Given the description of an element on the screen output the (x, y) to click on. 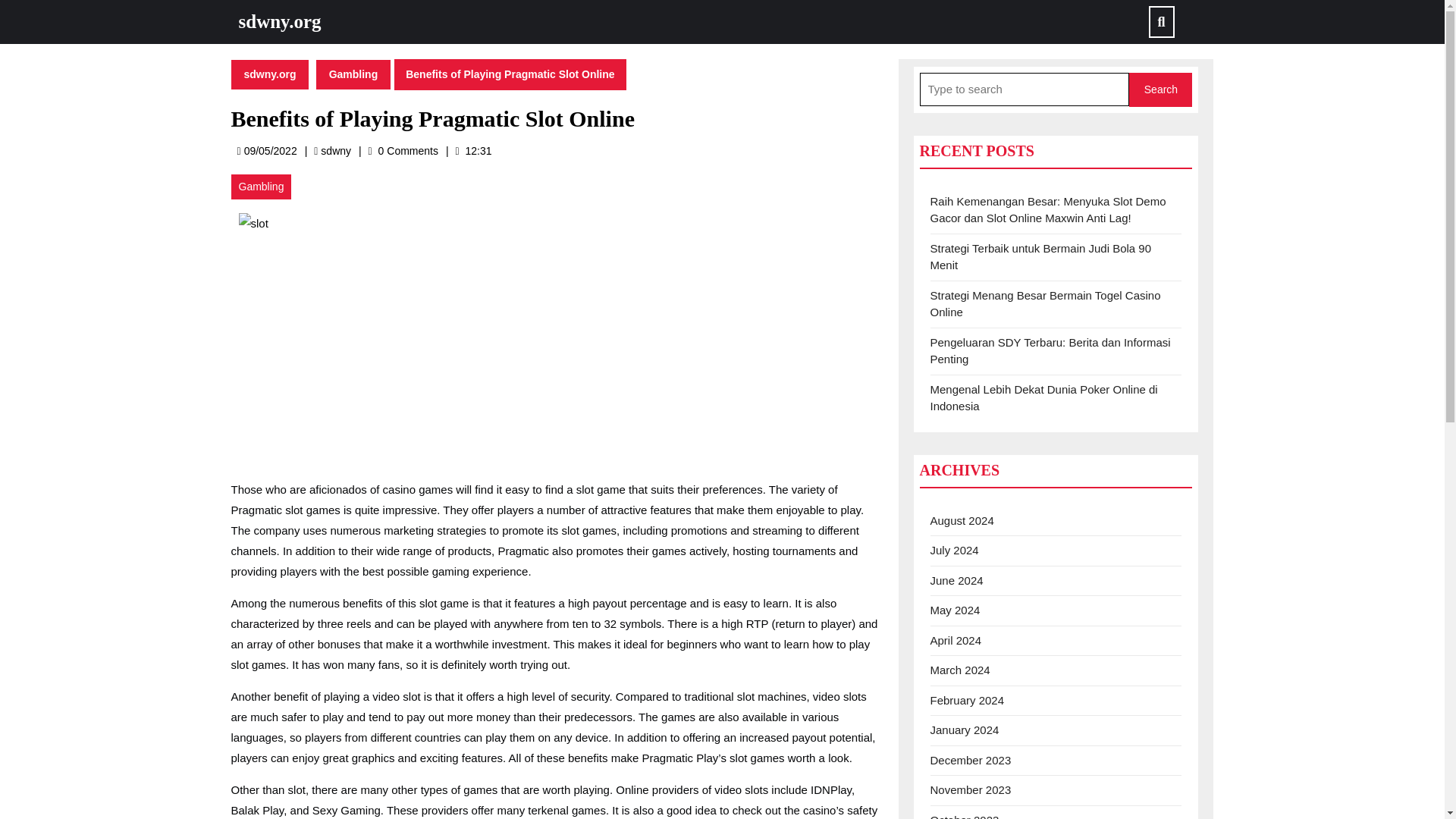
April 2024 (955, 640)
March 2024 (960, 669)
January 2024 (964, 729)
October 2023 (964, 816)
Search (1160, 89)
Search (1160, 89)
December 2023 (970, 759)
November 2023 (970, 789)
July 2024 (335, 150)
